Given the description of an element on the screen output the (x, y) to click on. 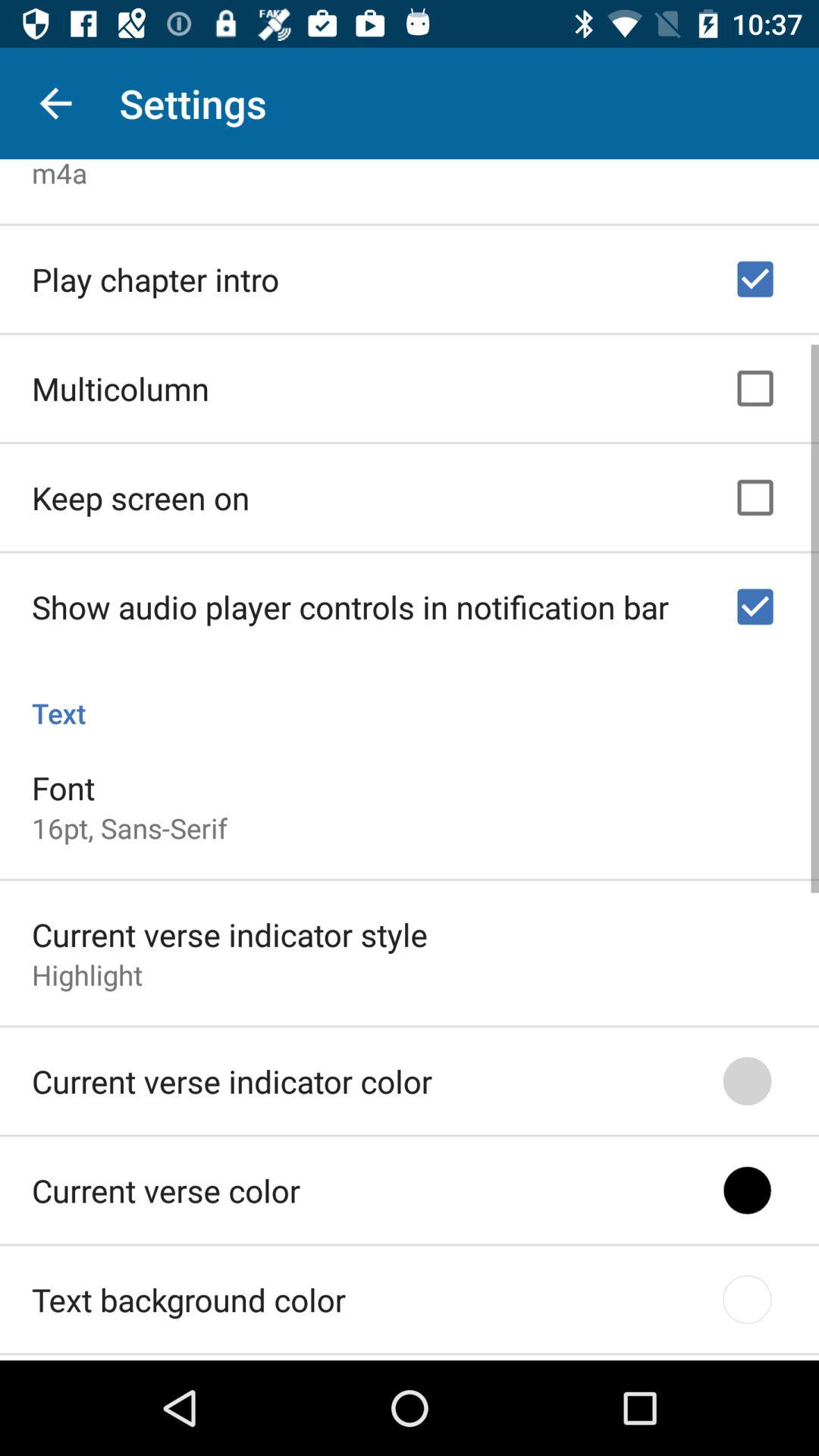
open text background color icon (188, 1294)
